Given the description of an element on the screen output the (x, y) to click on. 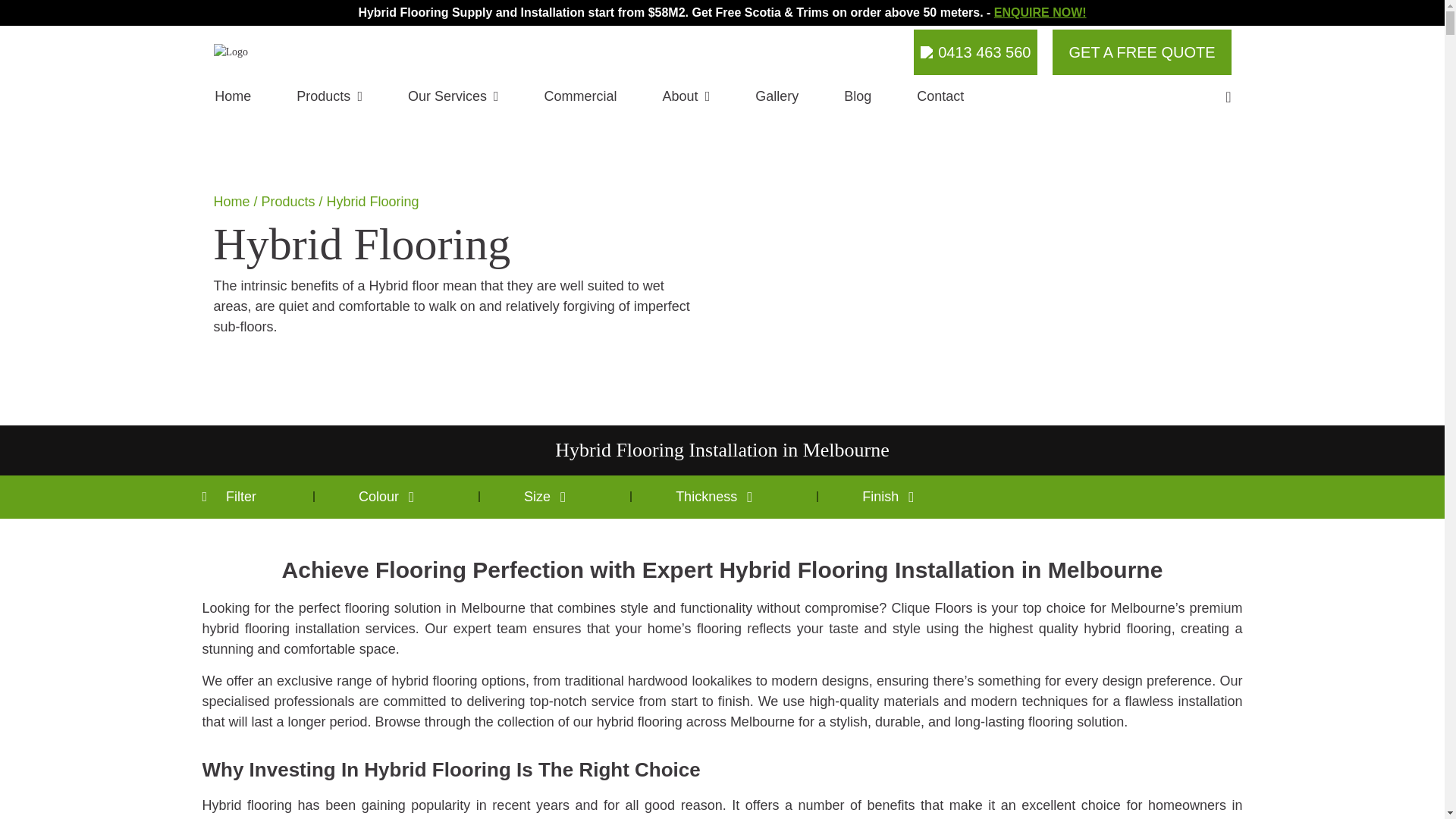
0413 463 560 (975, 52)
Our Services (453, 96)
ENQUIRE NOW! (1040, 11)
Home (232, 96)
Products (329, 96)
About (686, 96)
GET A FREE QUOTE (1141, 51)
Commercial (580, 96)
